Given the description of an element on the screen output the (x, y) to click on. 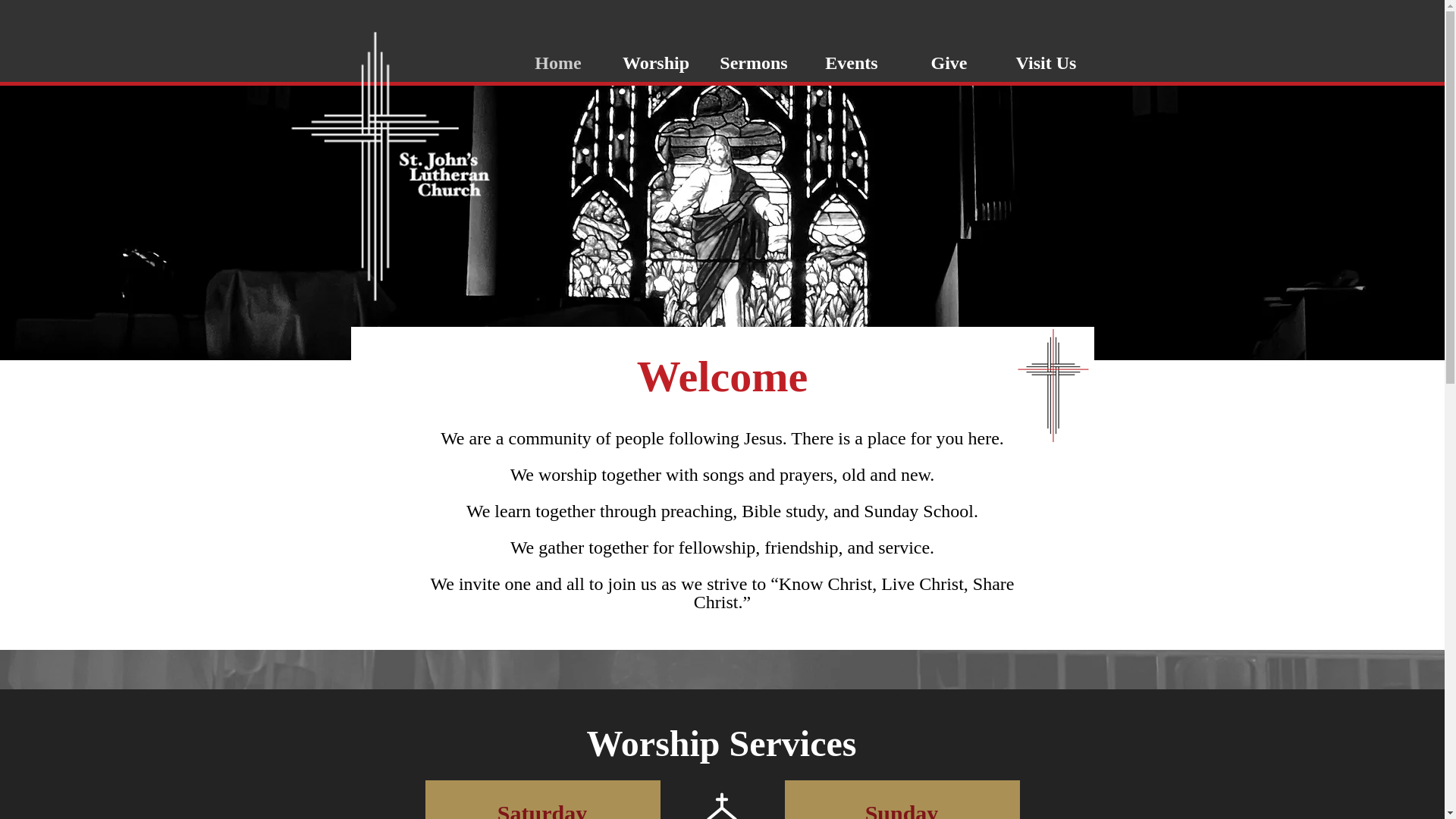
Give (949, 62)
Home (558, 62)
Worship (655, 62)
Visit Us (1045, 62)
Events (850, 62)
Sermons (753, 62)
